Given the description of an element on the screen output the (x, y) to click on. 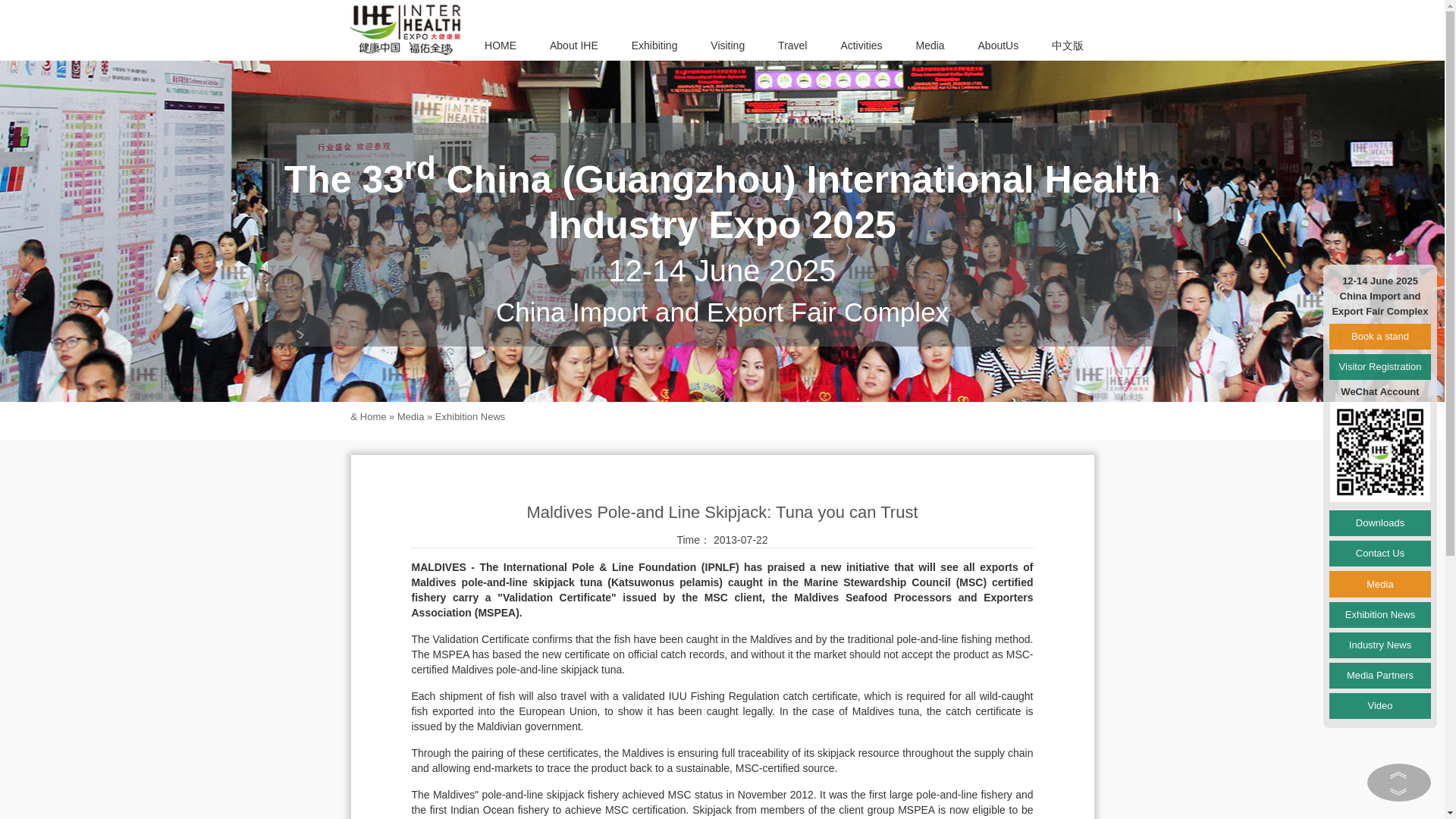
Activities (860, 44)
Exhibiting (654, 44)
Visiting (727, 44)
AboutUs (997, 44)
HOME (499, 44)
Travel (792, 44)
Media (930, 44)
Goto Bottom (1399, 794)
Goto Top (1399, 770)
About IHE (573, 44)
